Given the description of an element on the screen output the (x, y) to click on. 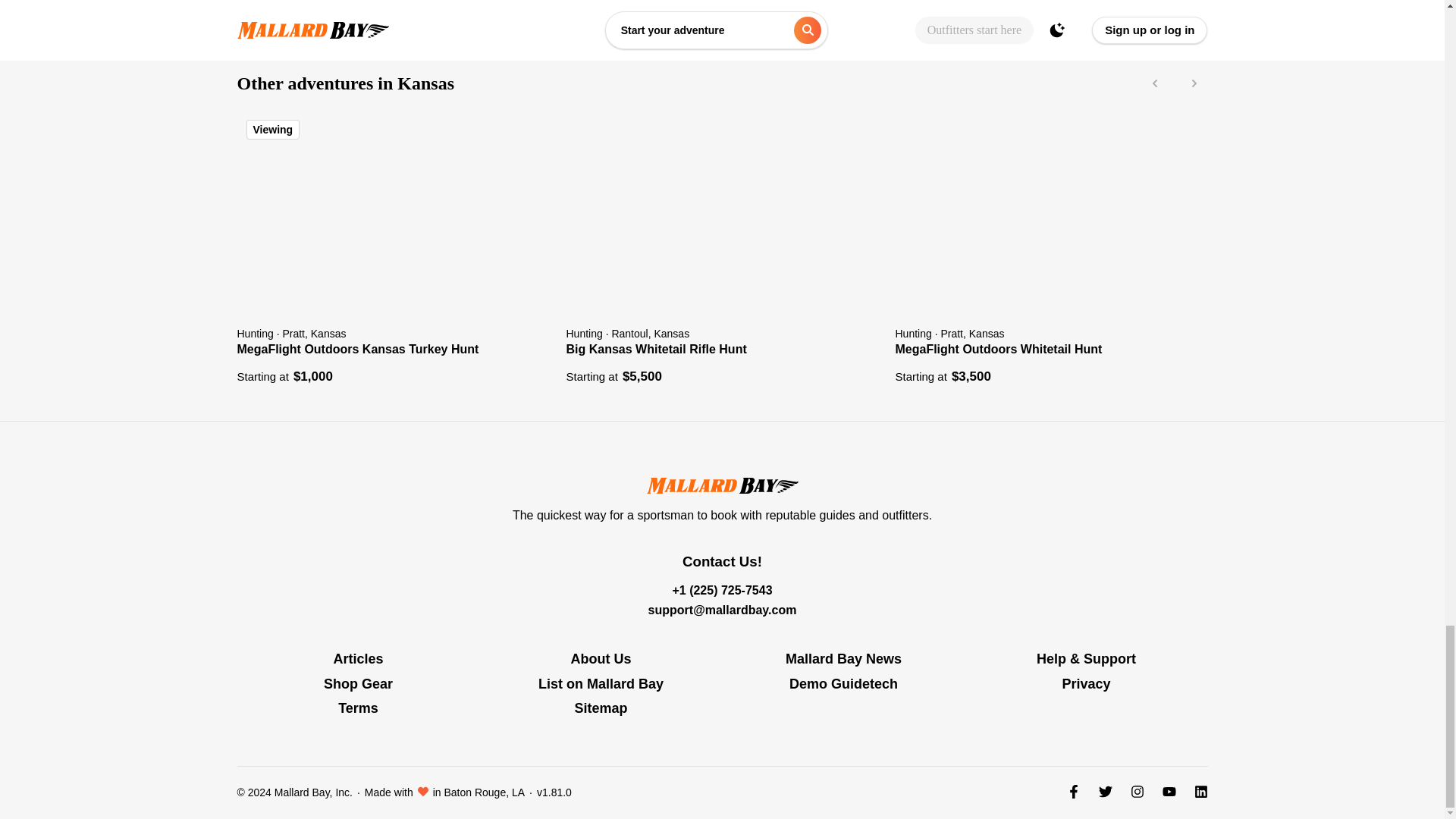
Right (1193, 83)
Left (1153, 83)
